Given the description of an element on the screen output the (x, y) to click on. 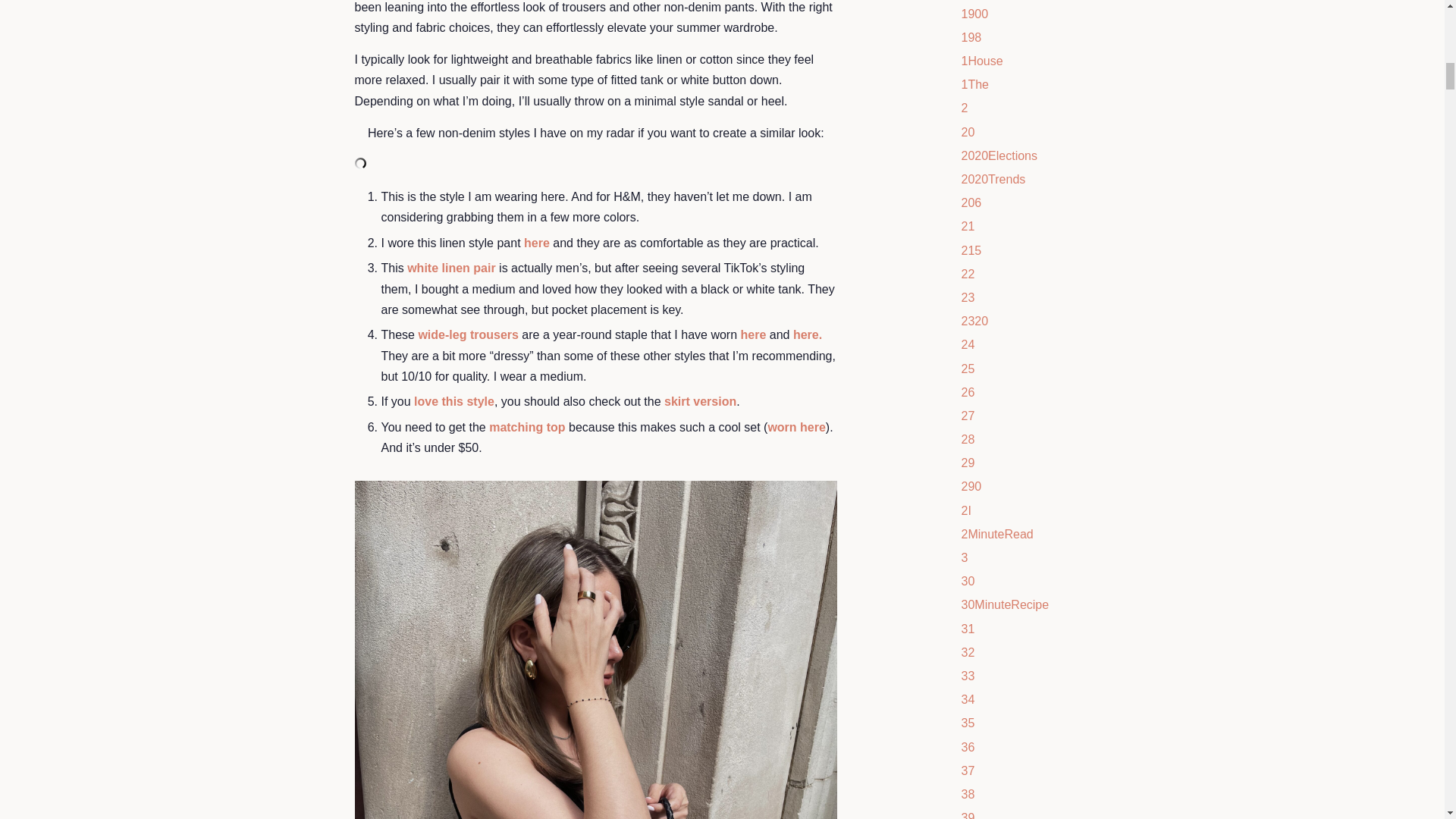
here. (807, 334)
matching top (526, 427)
here (754, 334)
love this style (454, 400)
white linen pair (451, 267)
worn here (796, 427)
here (537, 242)
wide-leg trousers (467, 334)
skirt version (699, 400)
